Given the description of an element on the screen output the (x, y) to click on. 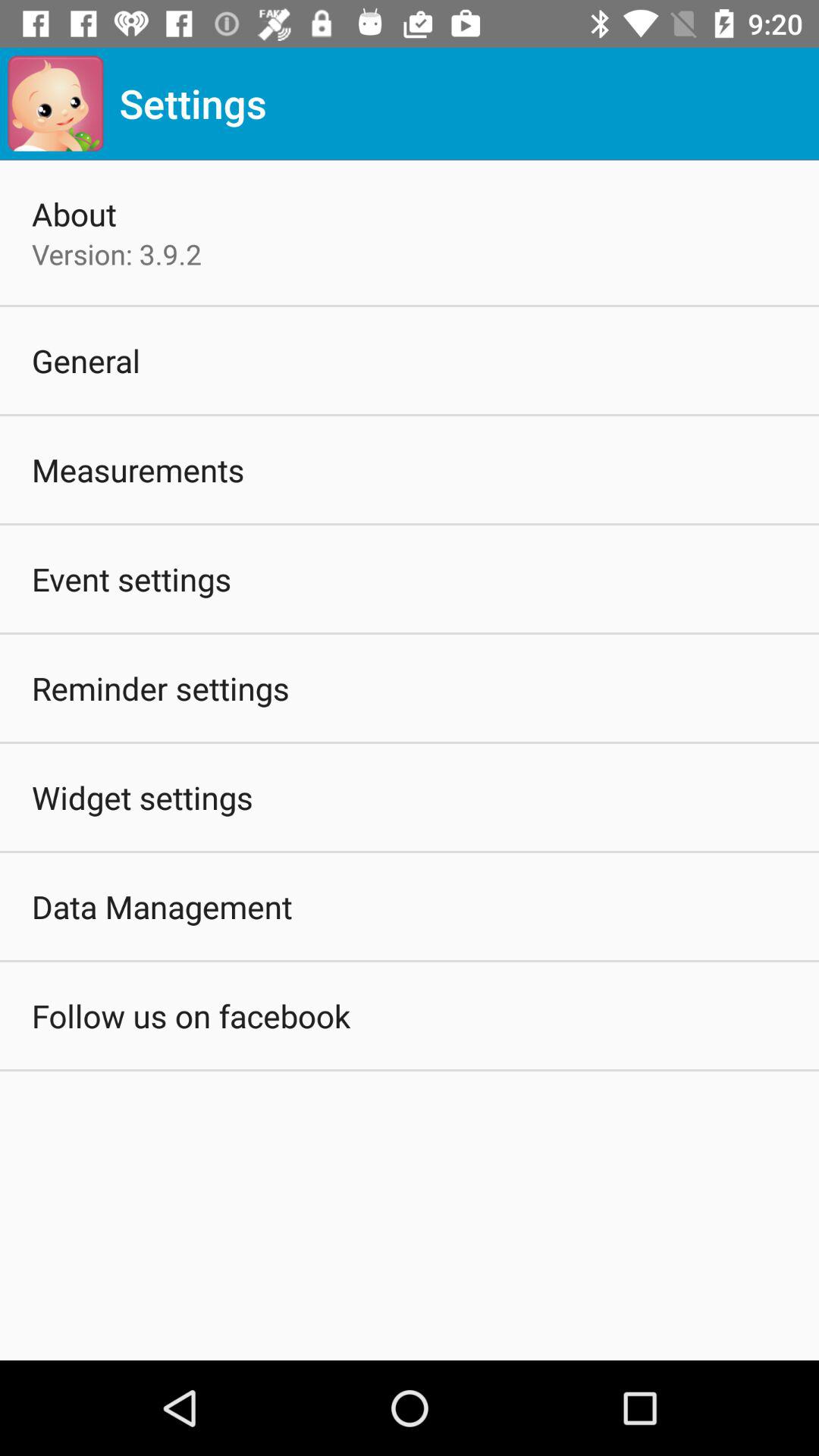
open the reminder settings icon (160, 687)
